Given the description of an element on the screen output the (x, y) to click on. 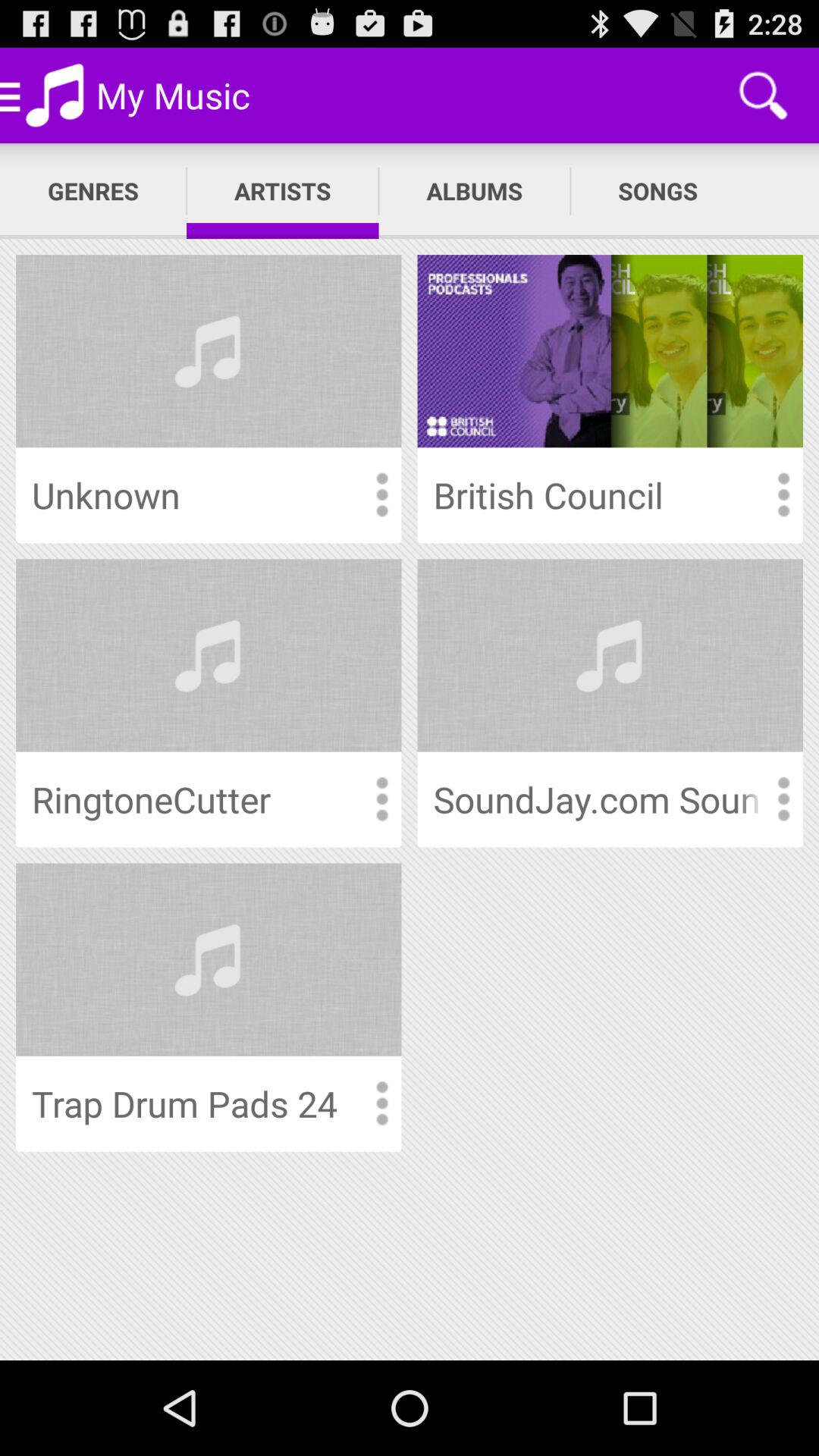
show more information (381, 1103)
